Given the description of an element on the screen output the (x, y) to click on. 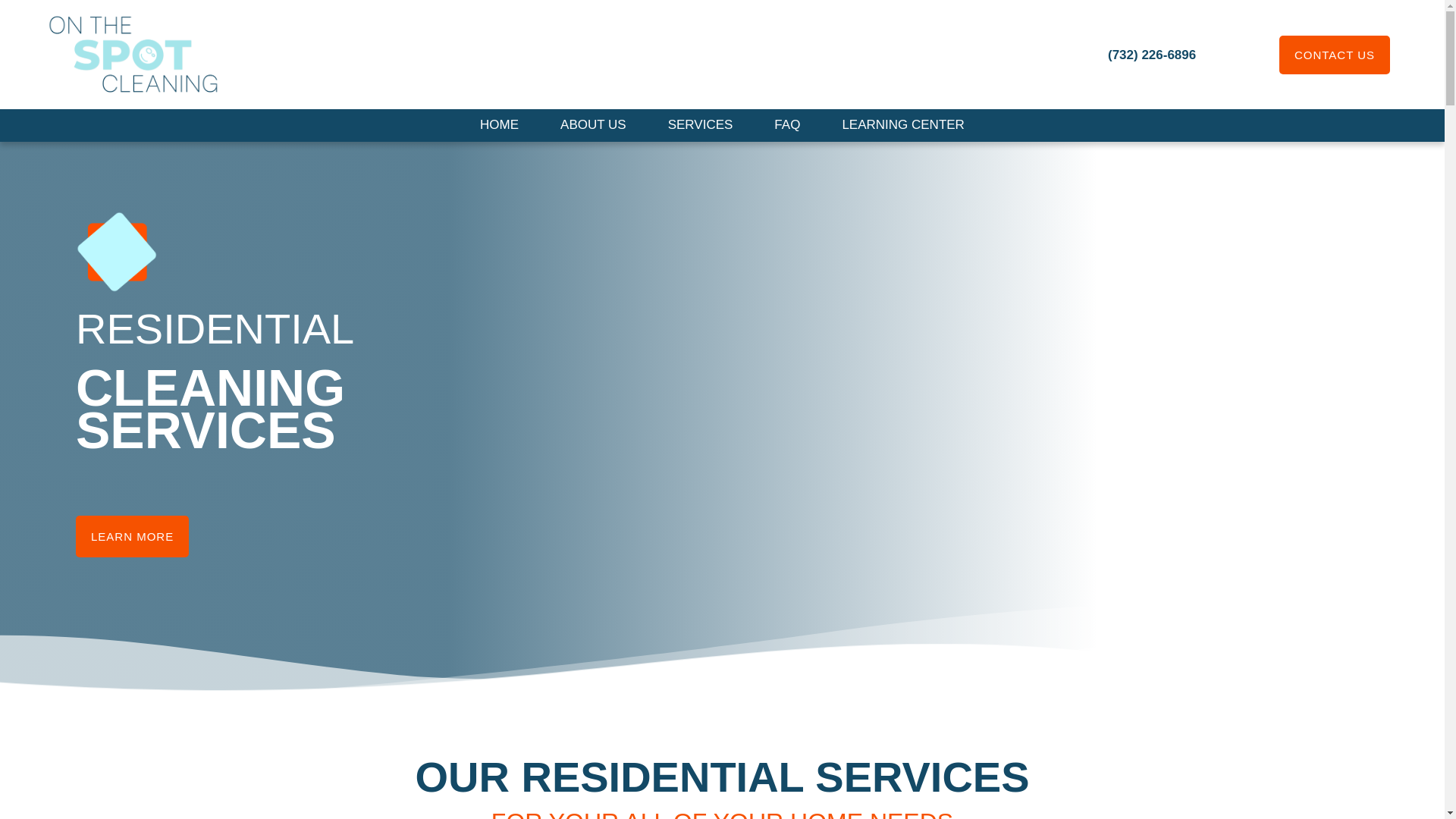
FAQ (787, 124)
CONTACT US (1334, 55)
LEARNING CENTER (903, 124)
HOME (498, 124)
ABOUT US (593, 124)
SERVICES (701, 124)
